Given the description of an element on the screen output the (x, y) to click on. 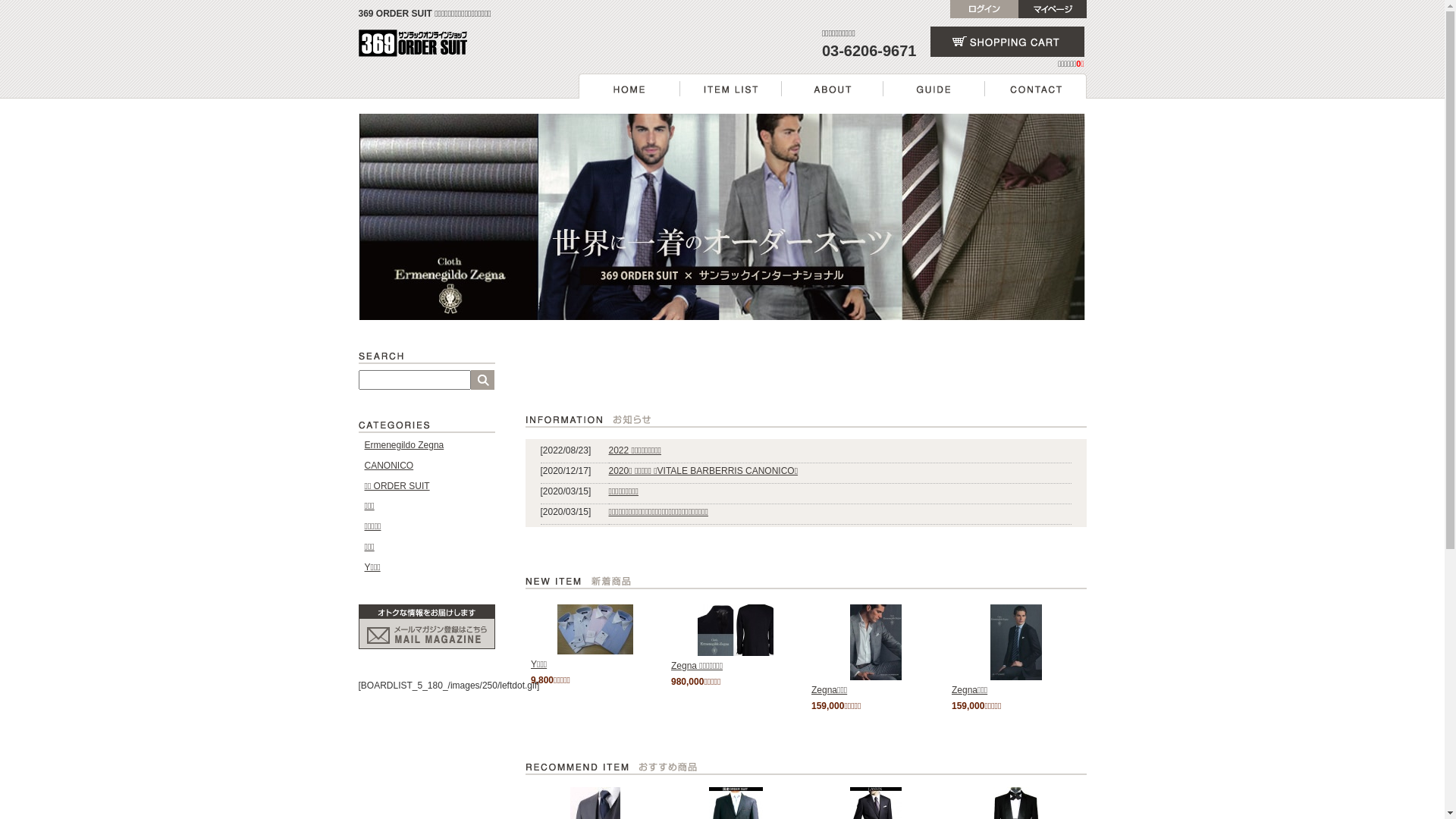
Ermenegildo Zegna Element type: text (403, 444)
CANONICO Element type: text (388, 465)
